Given the description of an element on the screen output the (x, y) to click on. 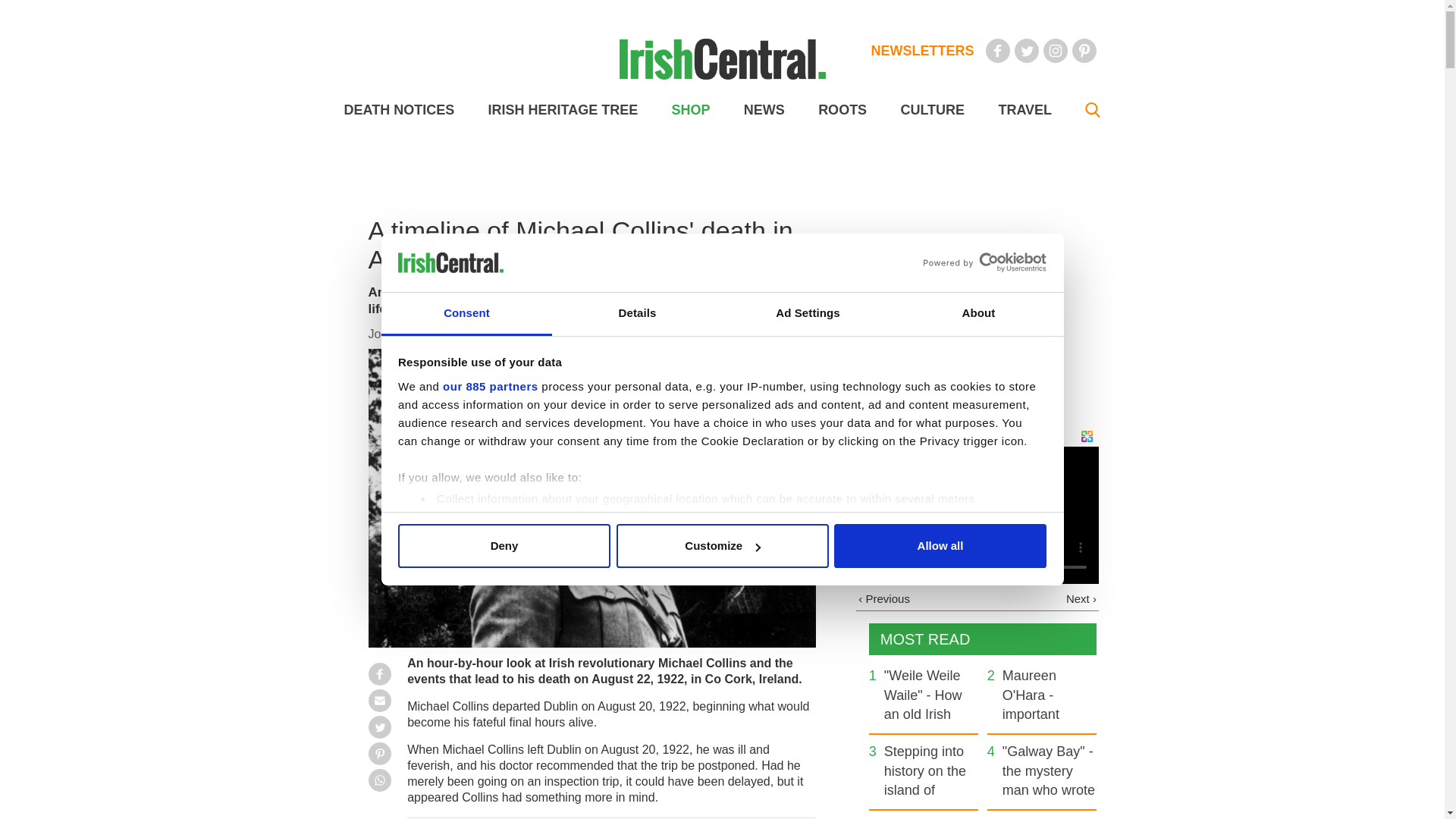
About (978, 313)
Details (636, 313)
Consent (465, 313)
details section (927, 536)
our 885 partners (490, 386)
Ad Settings (807, 313)
